Given the description of an element on the screen output the (x, y) to click on. 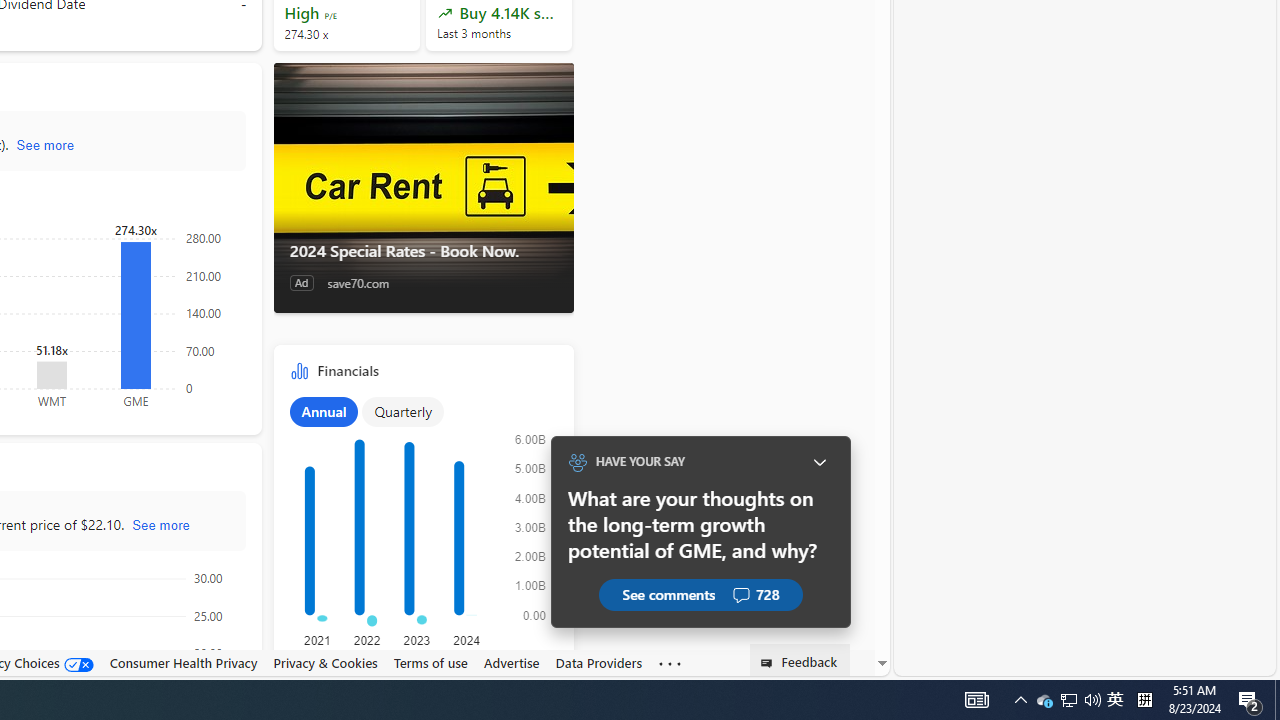
Annual (323, 411)
Data Providers (598, 662)
2024 Special Rates - Book Now. (423, 250)
Terms of use (430, 662)
2024 Special Rates - Book Now. (422, 188)
Quarterly (403, 411)
